Given the description of an element on the screen output the (x, y) to click on. 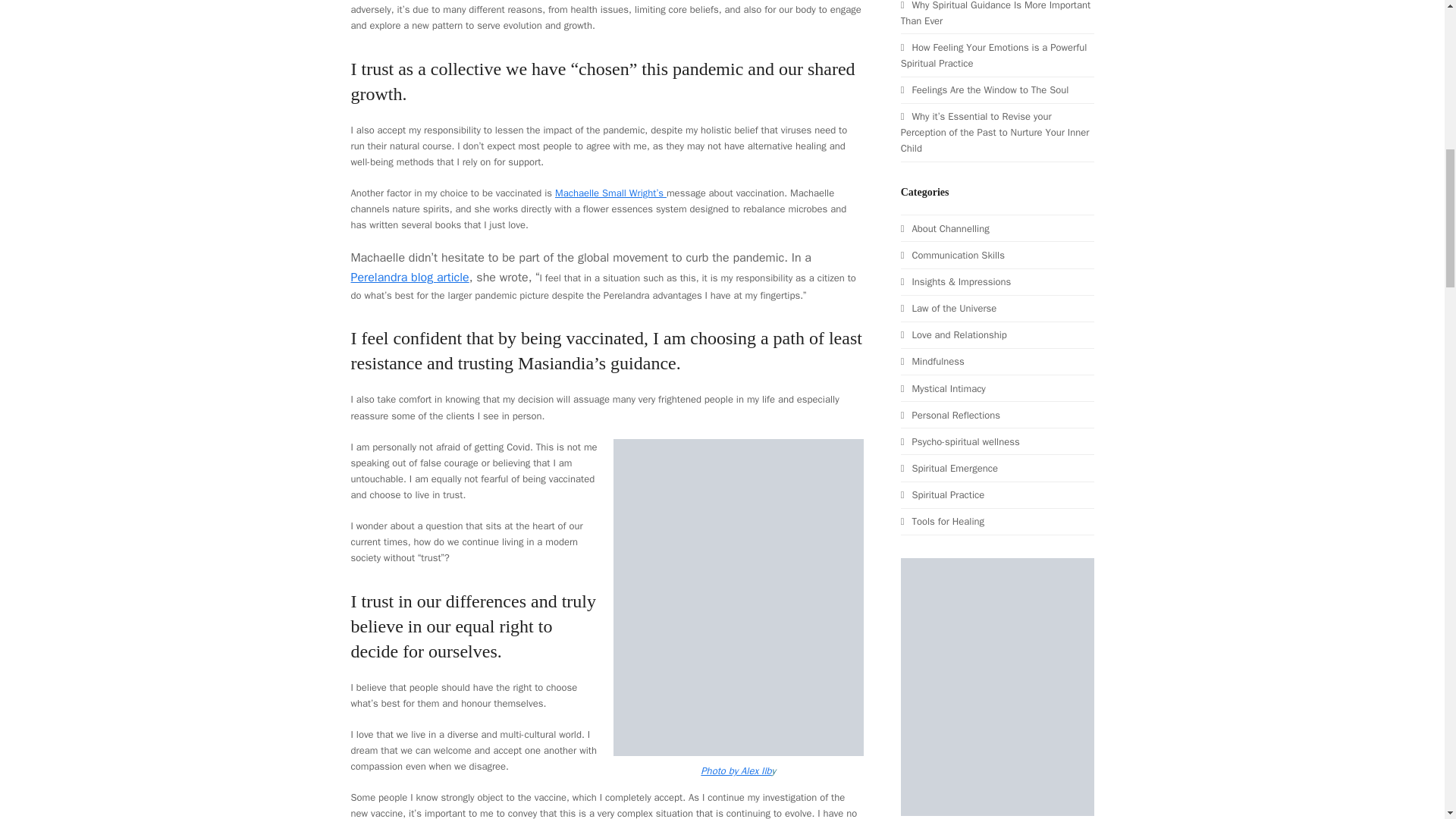
Perelandra blog article (409, 277)
Photo by Alex Ilb (735, 770)
